Given the description of an element on the screen output the (x, y) to click on. 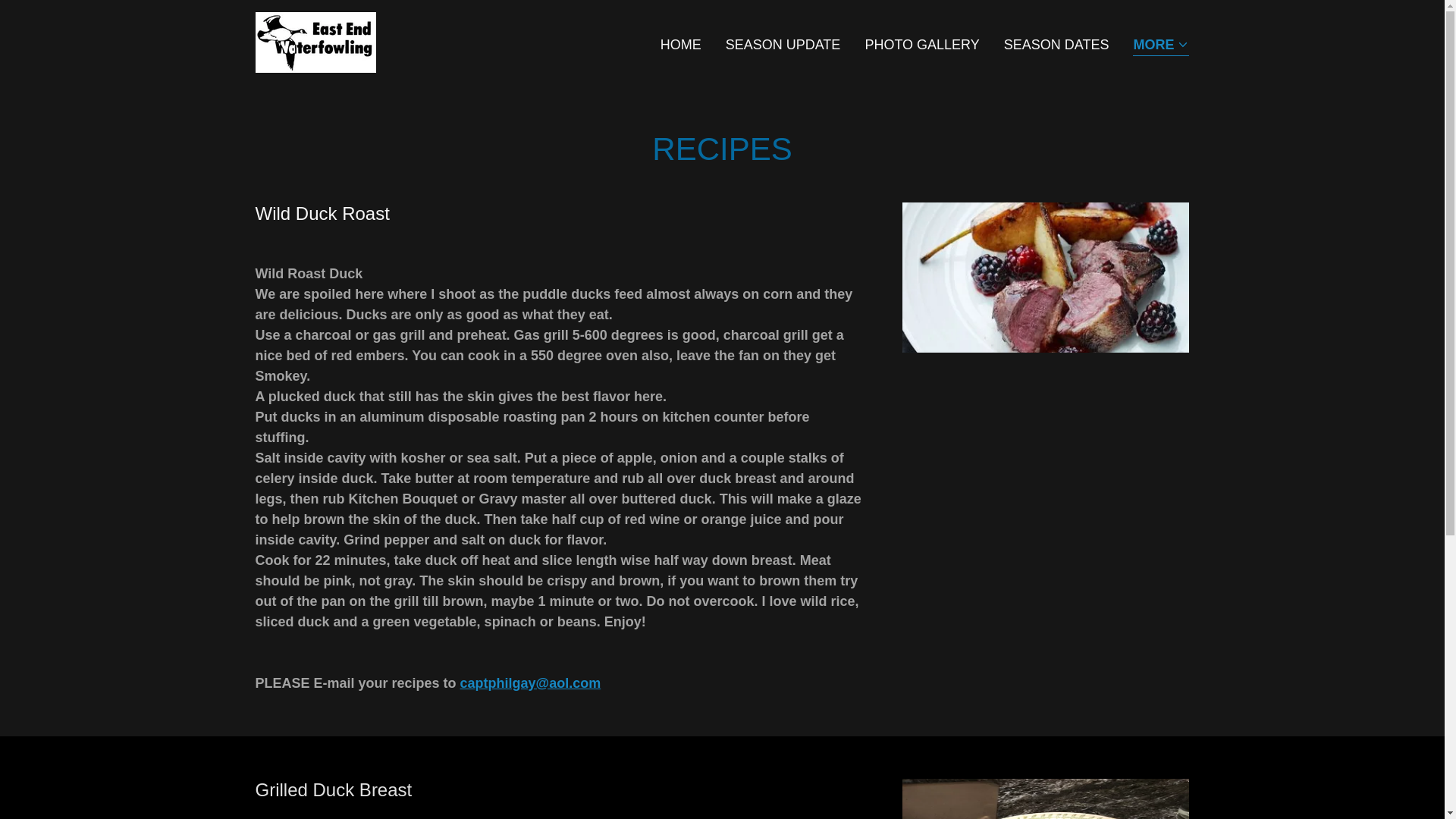
HOME (681, 43)
PHOTO GALLERY (922, 43)
SEASON UPDATE (782, 43)
East End Waterfowling (314, 41)
SEASON DATES (1055, 43)
MORE (1160, 45)
